Given the description of an element on the screen output the (x, y) to click on. 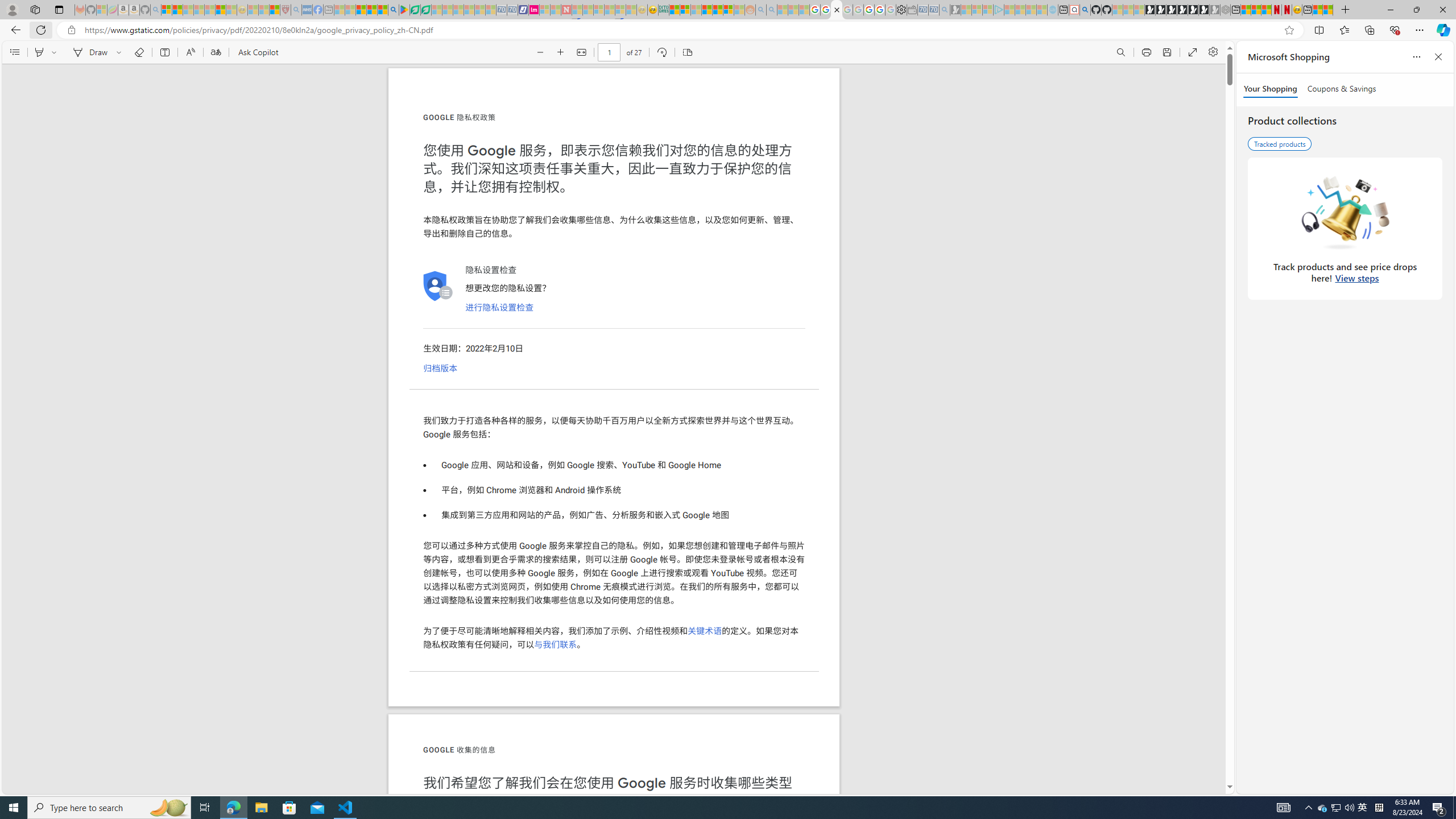
Wallet - Sleeping (912, 9)
Terms of Use Agreement (414, 9)
Find (Ctrl + F) (1120, 52)
list of asthma inhalers uk - Search - Sleeping (296, 9)
The Weather Channel - MSN - Sleeping (187, 9)
